Given the description of an element on the screen output the (x, y) to click on. 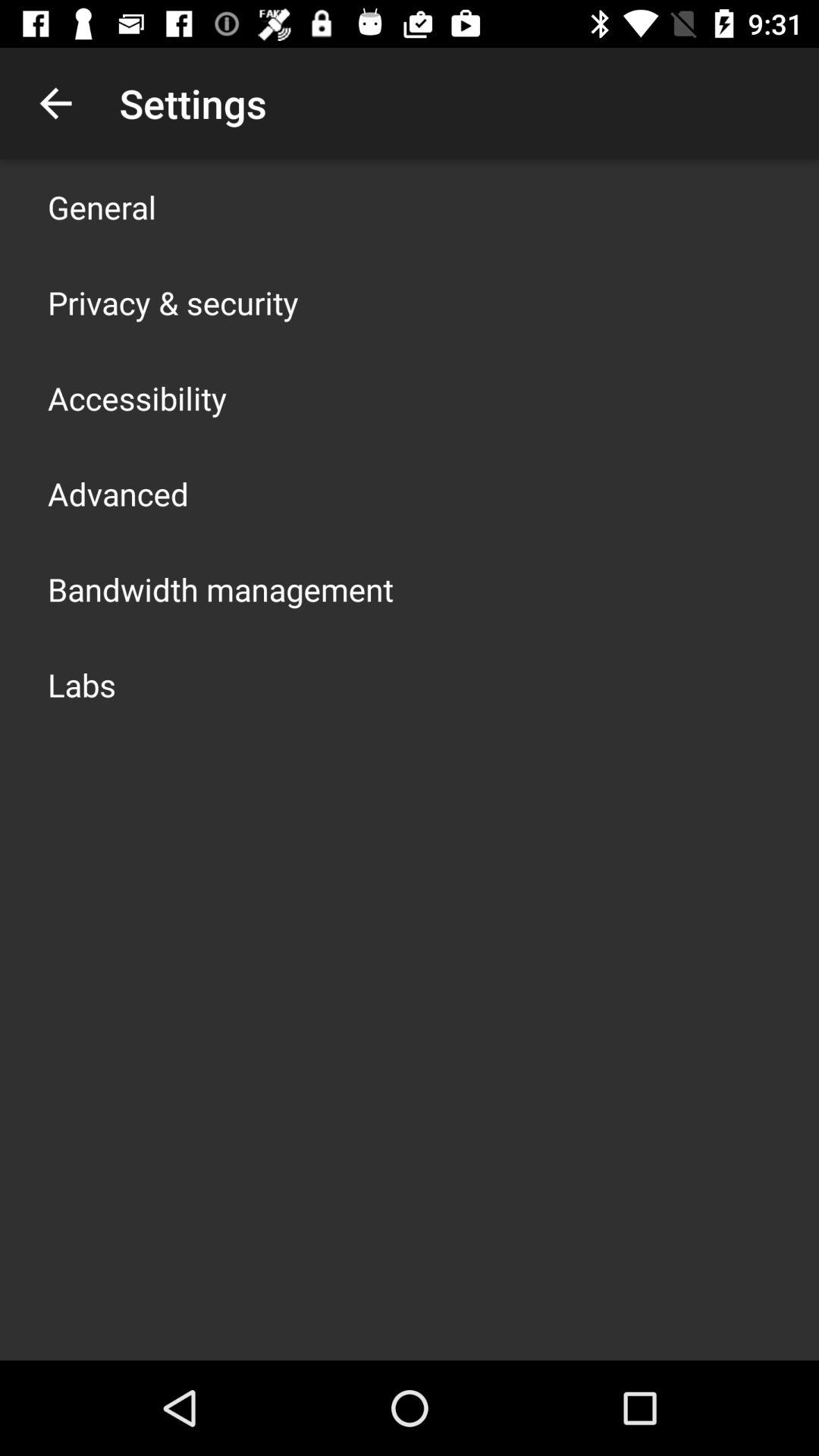
tap item below bandwidth management icon (81, 684)
